Given the description of an element on the screen output the (x, y) to click on. 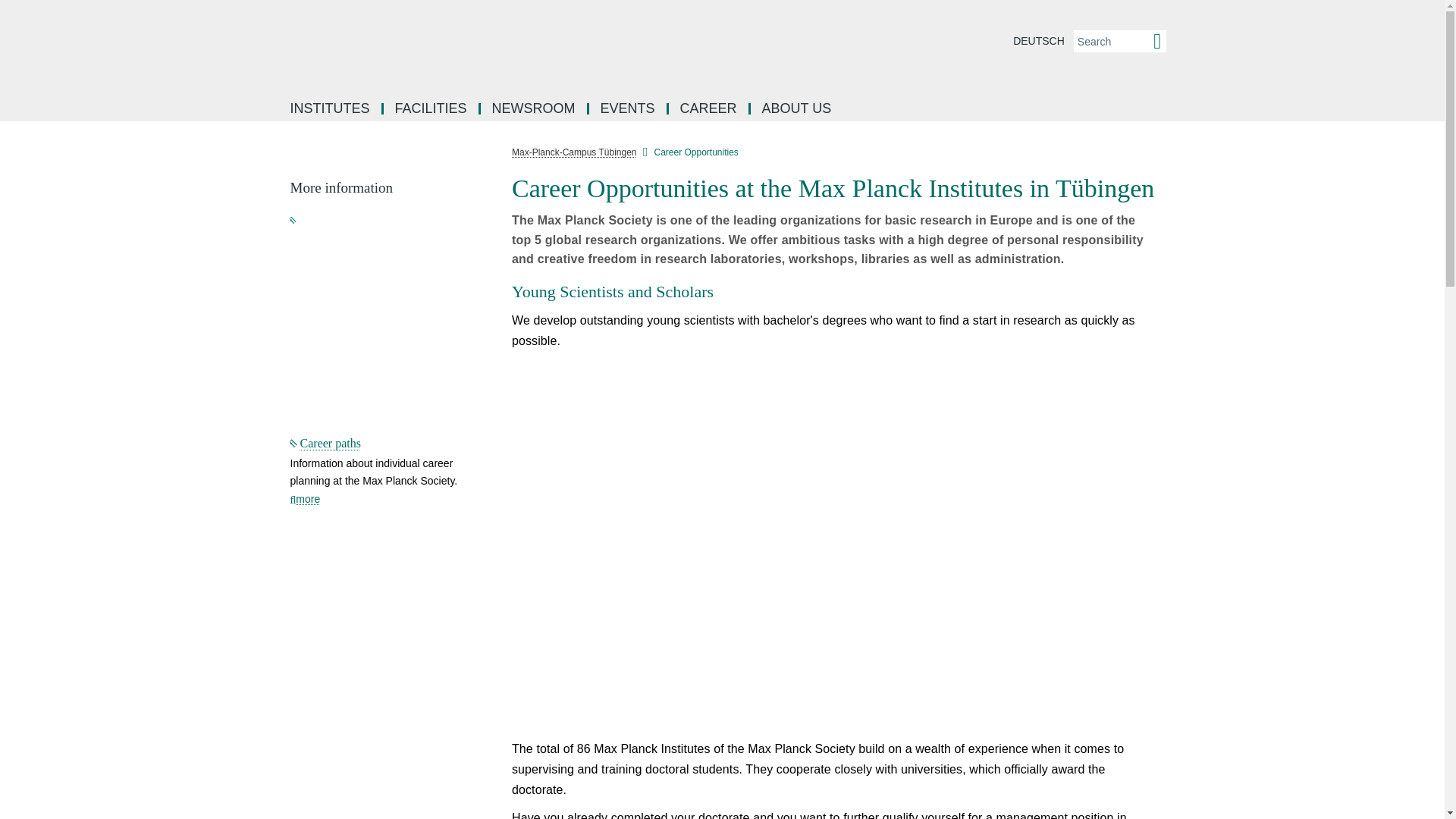
more (304, 499)
ABOUT US (797, 108)
DEUTSCH (1038, 41)
EVENTS (628, 108)
Career paths (324, 442)
CAREER (709, 108)
Print (1177, 184)
FACILITIES (432, 108)
NEWSROOM (534, 108)
INSTITUTES (331, 108)
